Given the description of an element on the screen output the (x, y) to click on. 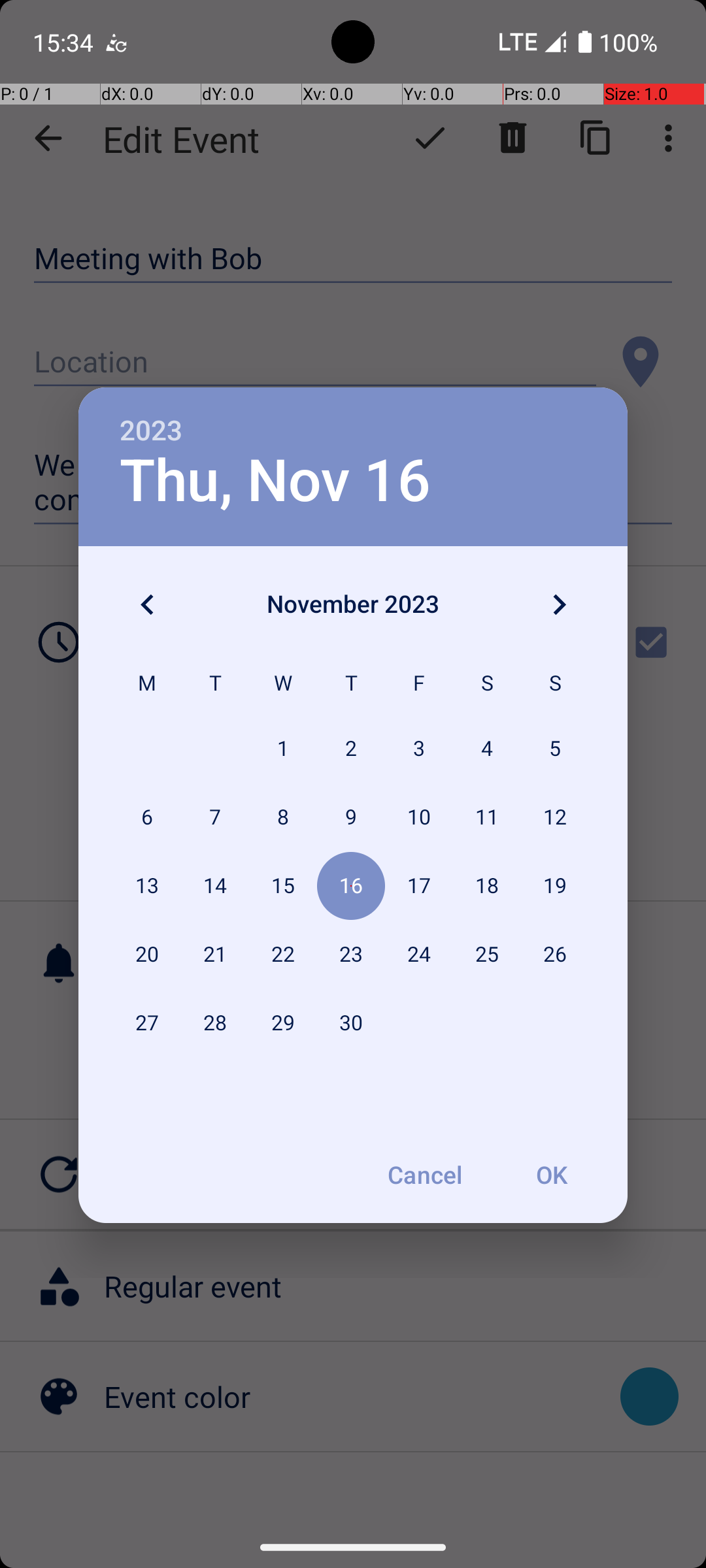
Thu, Nov 16 Element type: android.widget.TextView (275, 480)
